Given the description of an element on the screen output the (x, y) to click on. 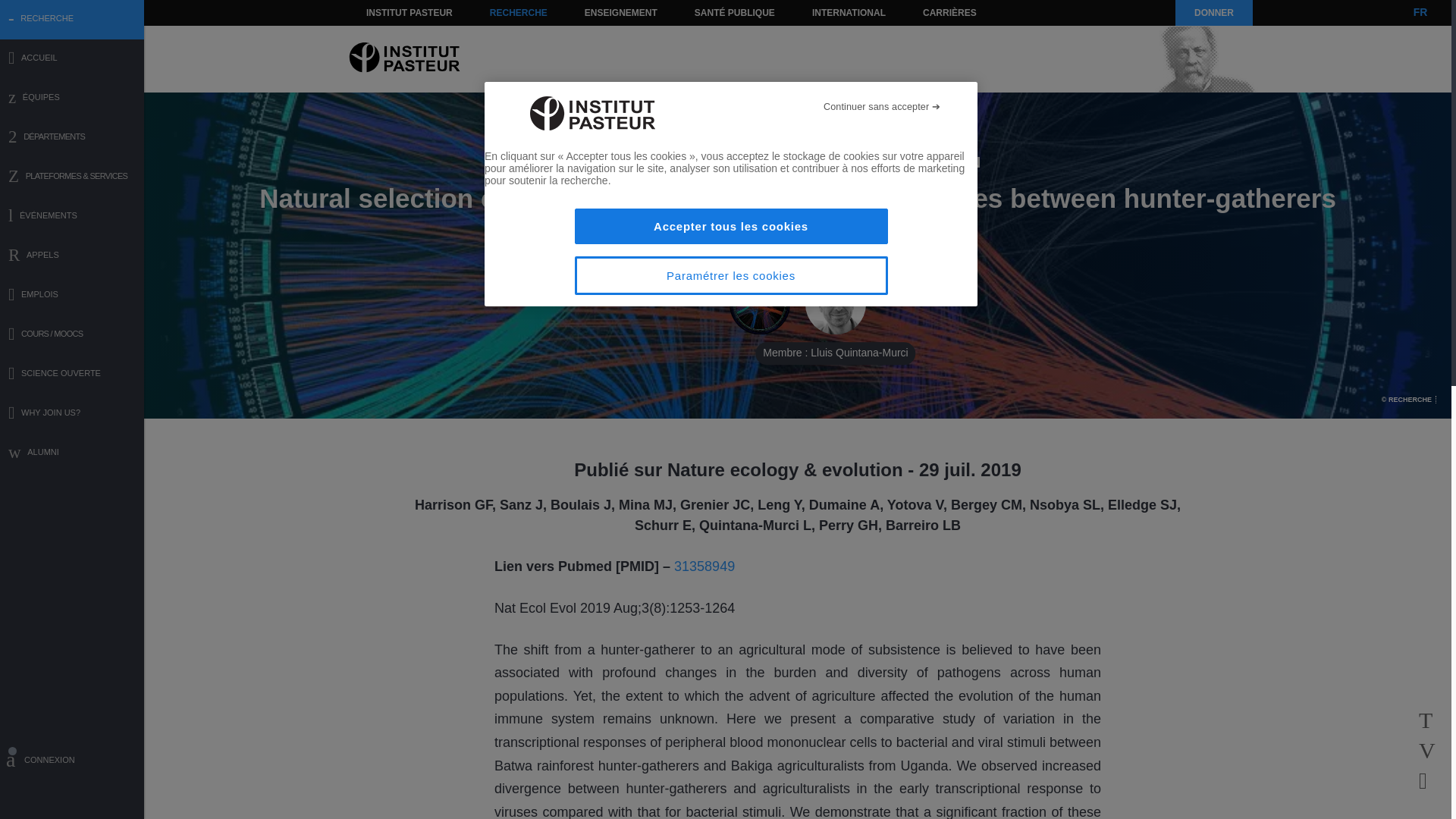
ENSEIGNEMENT (620, 12)
INSTITUT PASTEUR (409, 12)
WHY JOIN US? (72, 413)
EMPLOIS (72, 296)
Membre : Lluis Quintana-Murci (835, 304)
DONNER (1213, 12)
ALUMNI (72, 454)
APPELS (72, 256)
RECHERCHE (518, 12)
31358949 (704, 566)
INTERNATIONAL (848, 12)
FR (1419, 11)
Aller au contenu (391, 11)
CONNEXION (72, 762)
Aller au contenu (391, 11)
